Given the description of an element on the screen output the (x, y) to click on. 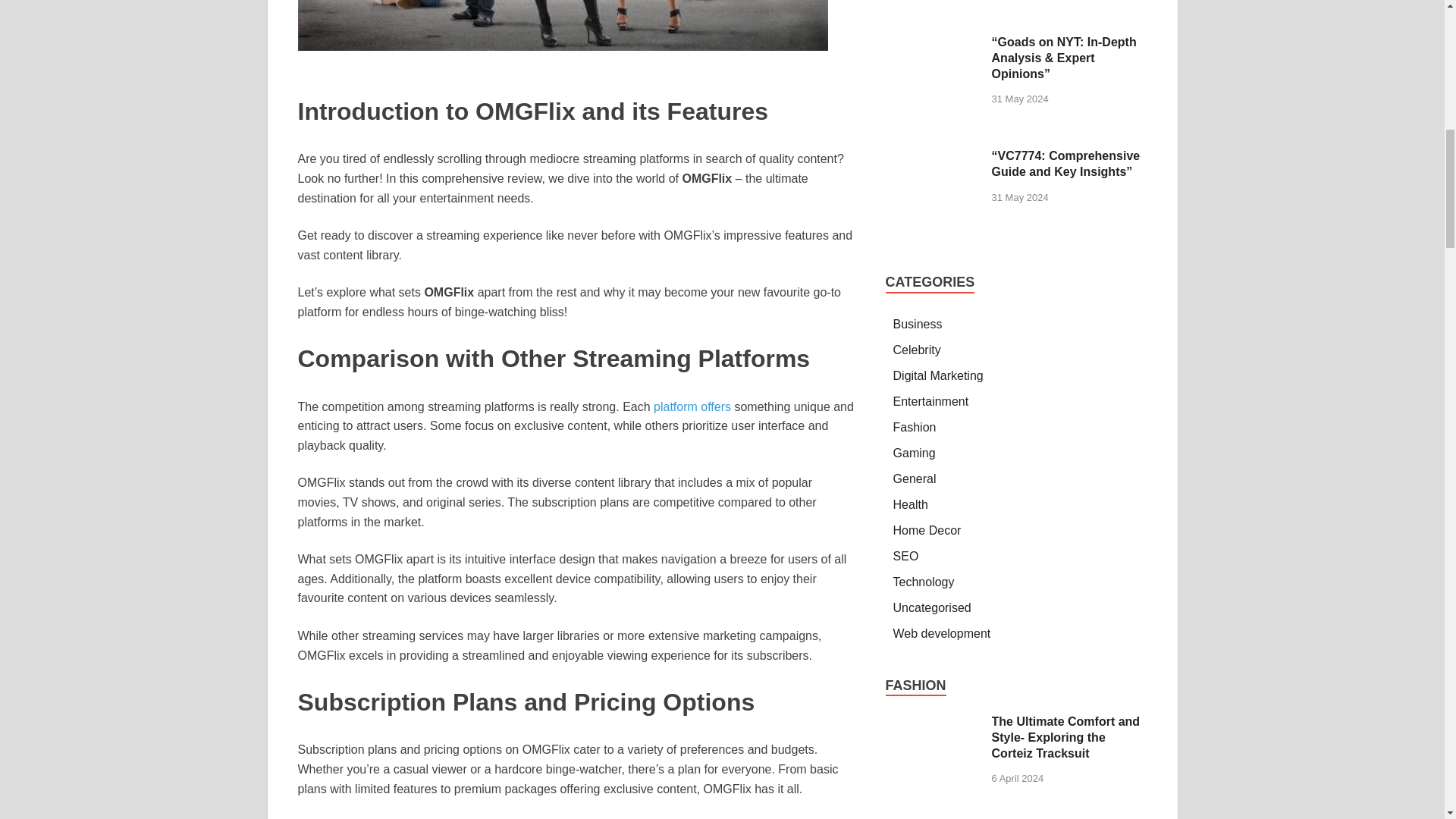
platform offers (690, 406)
